Given the description of an element on the screen output the (x, y) to click on. 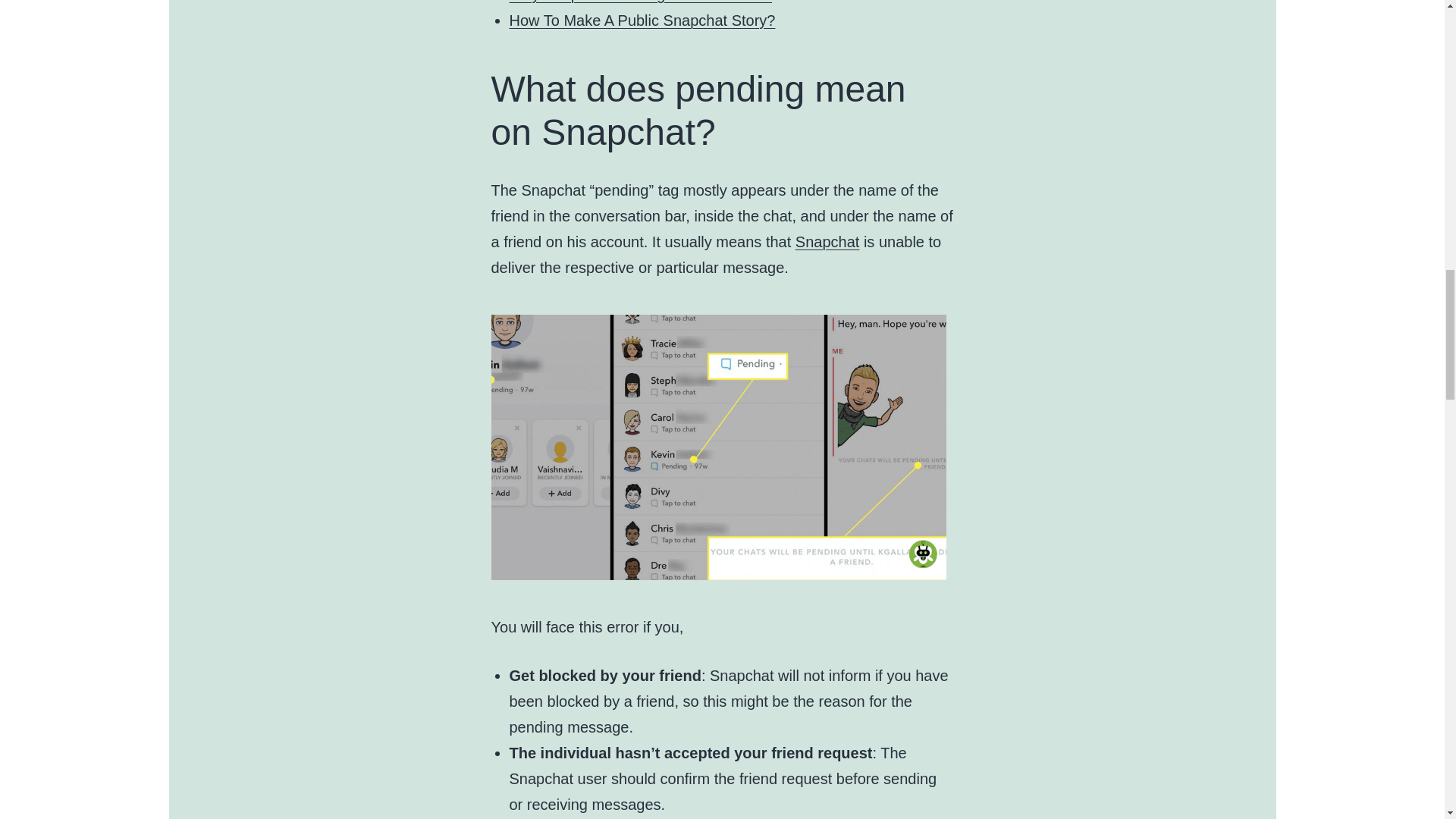
How To Make A Public Snapchat Story? (642, 20)
Snapchat (827, 241)
